Given the description of an element on the screen output the (x, y) to click on. 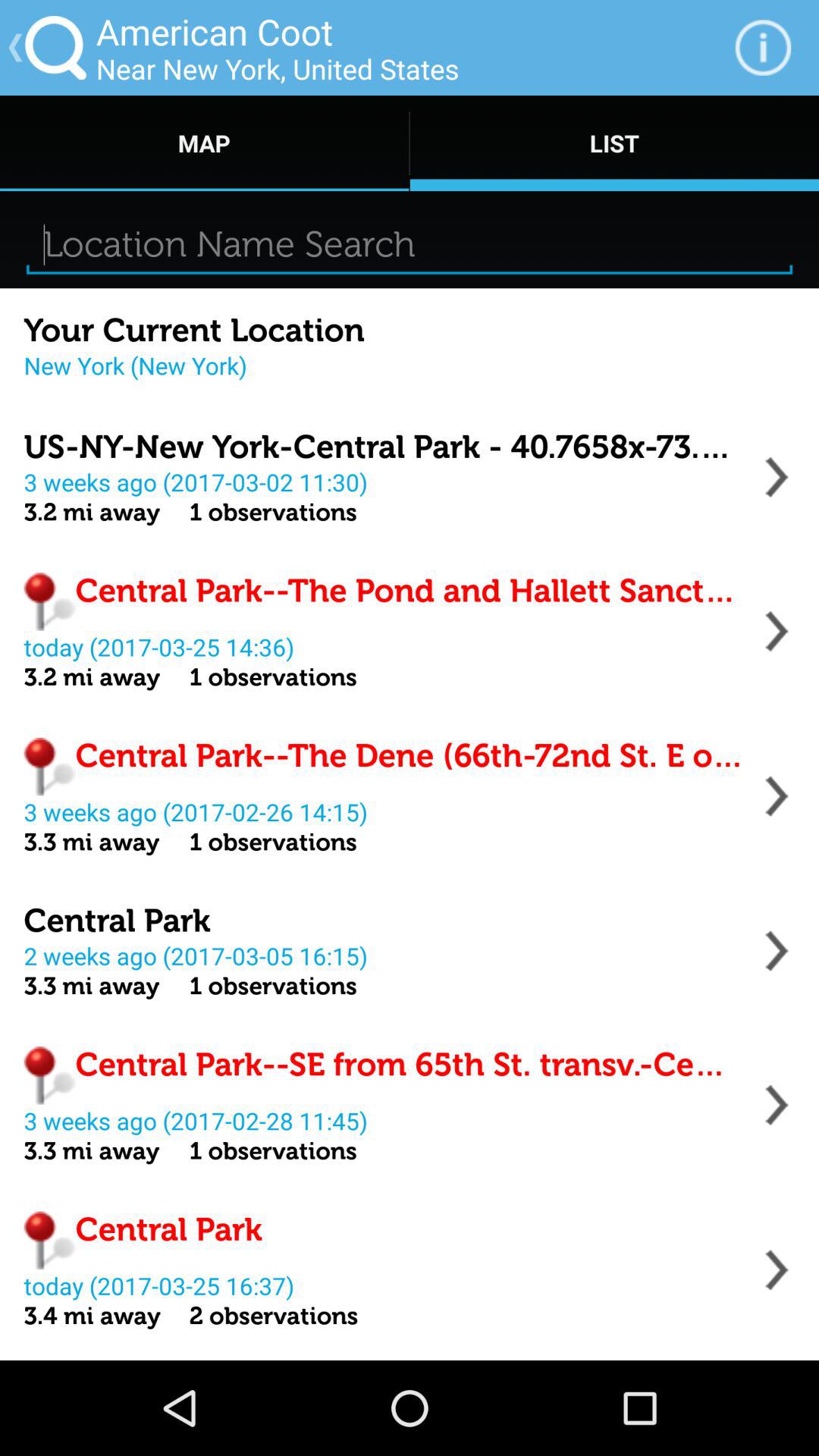
select location (776, 631)
